Given the description of an element on the screen output the (x, y) to click on. 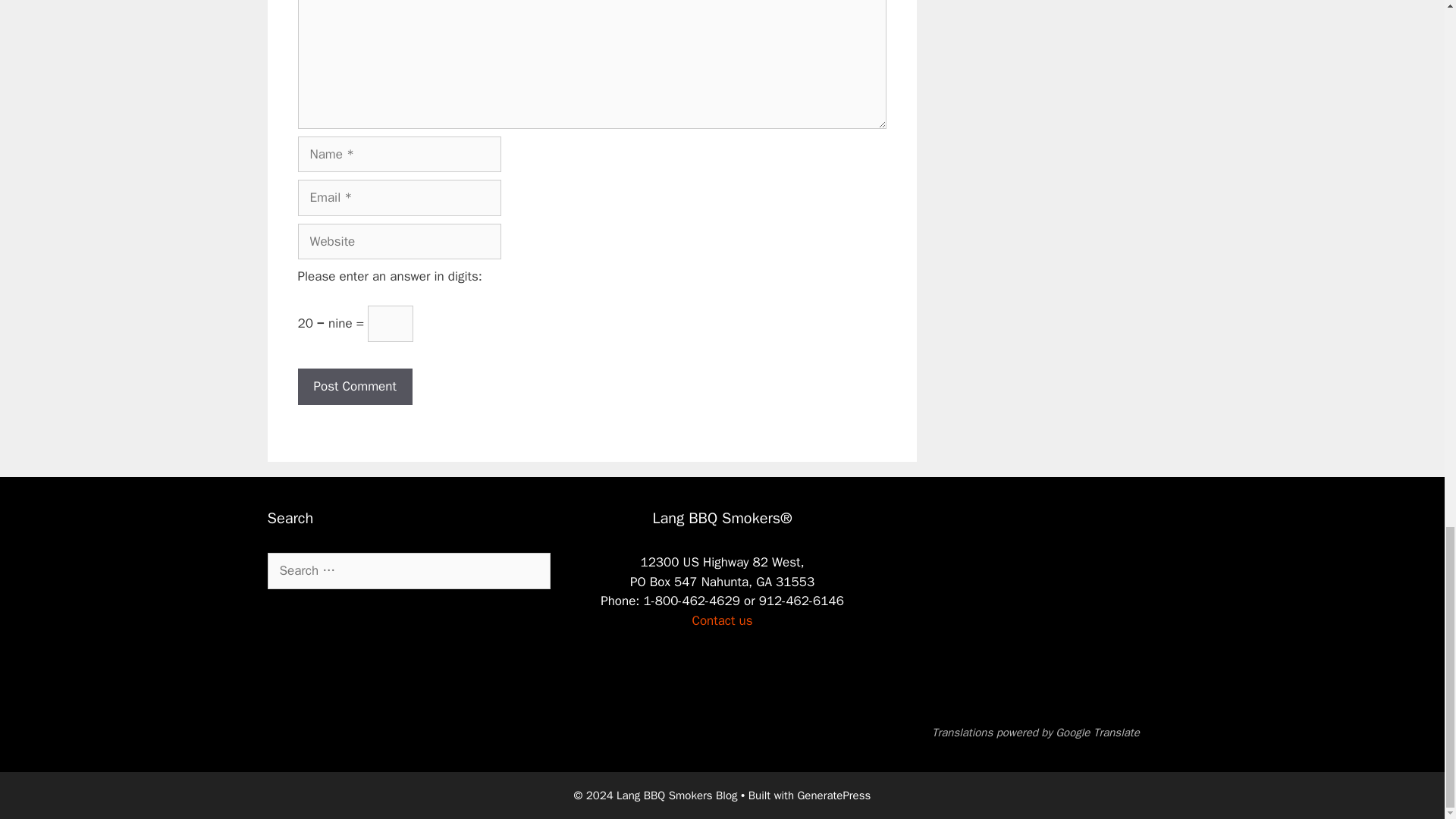
RSS (261, 624)
Twitter (397, 624)
Follow by Email (306, 624)
Post Comment (354, 386)
Search for: (408, 570)
Facebook (351, 624)
Post Comment (354, 386)
